Given the description of an element on the screen output the (x, y) to click on. 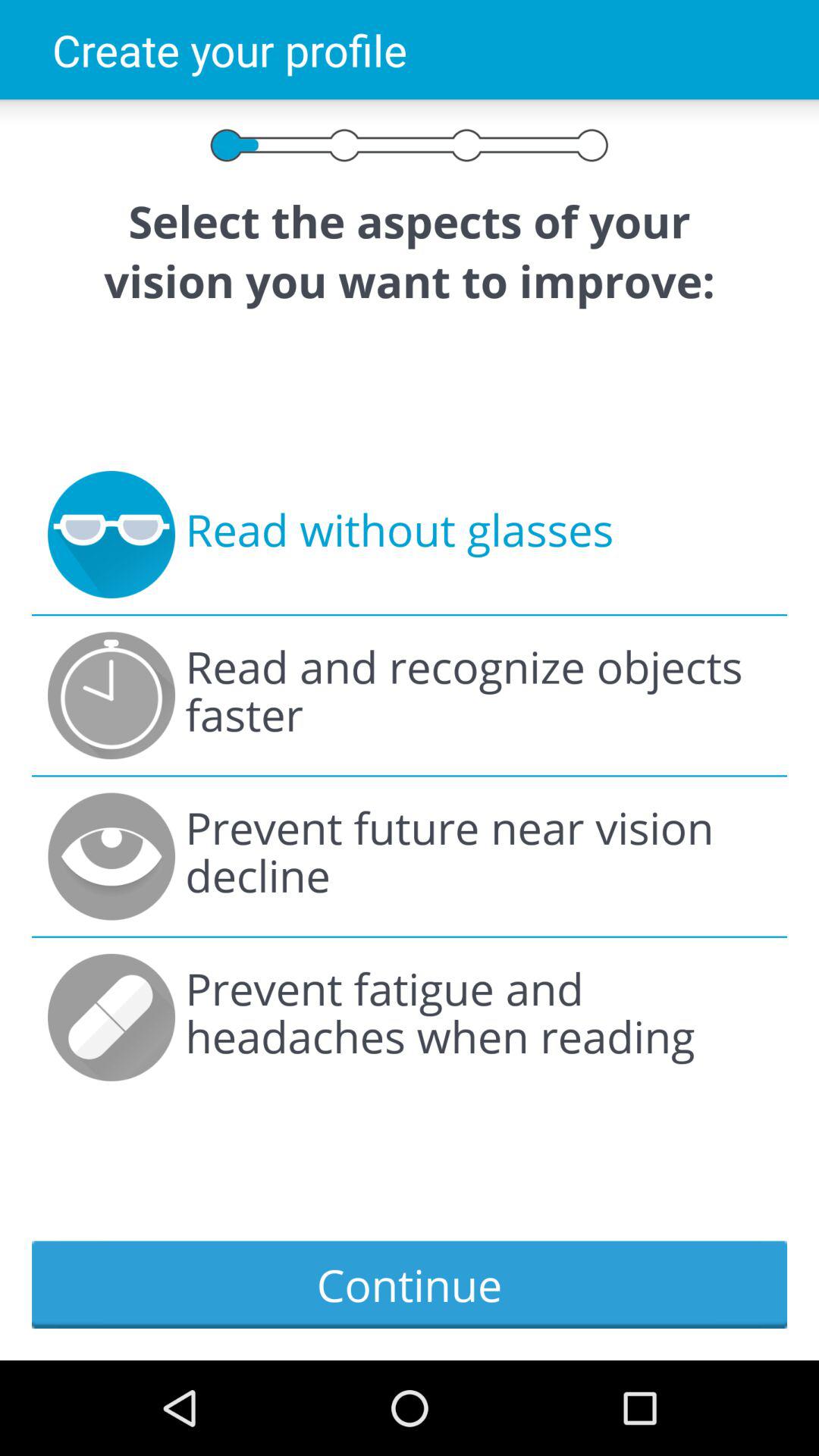
open the prevent future near (478, 856)
